Given the description of an element on the screen output the (x, y) to click on. 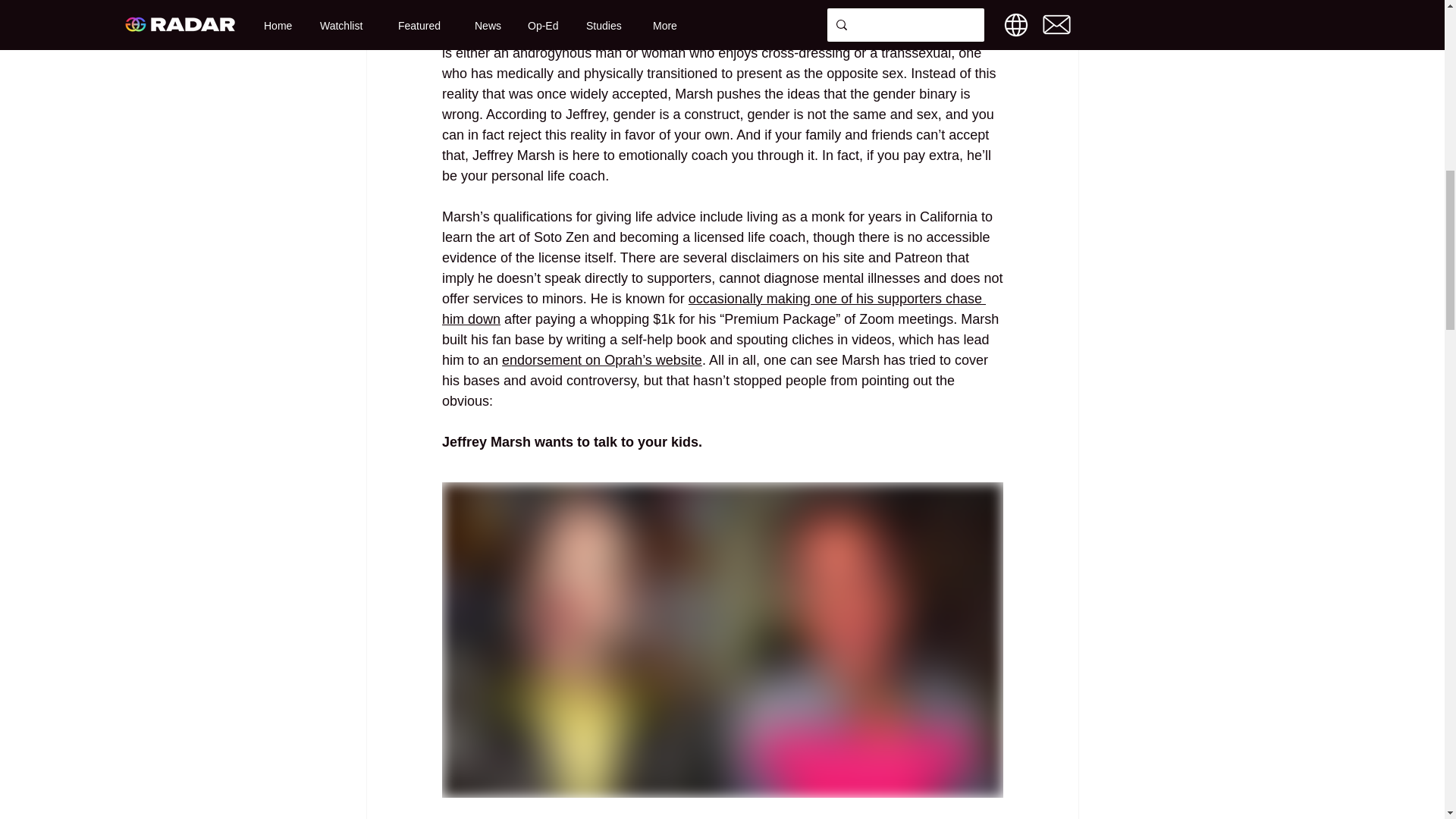
occasionally making one of his supporters chase him down (713, 308)
